Given the description of an element on the screen output the (x, y) to click on. 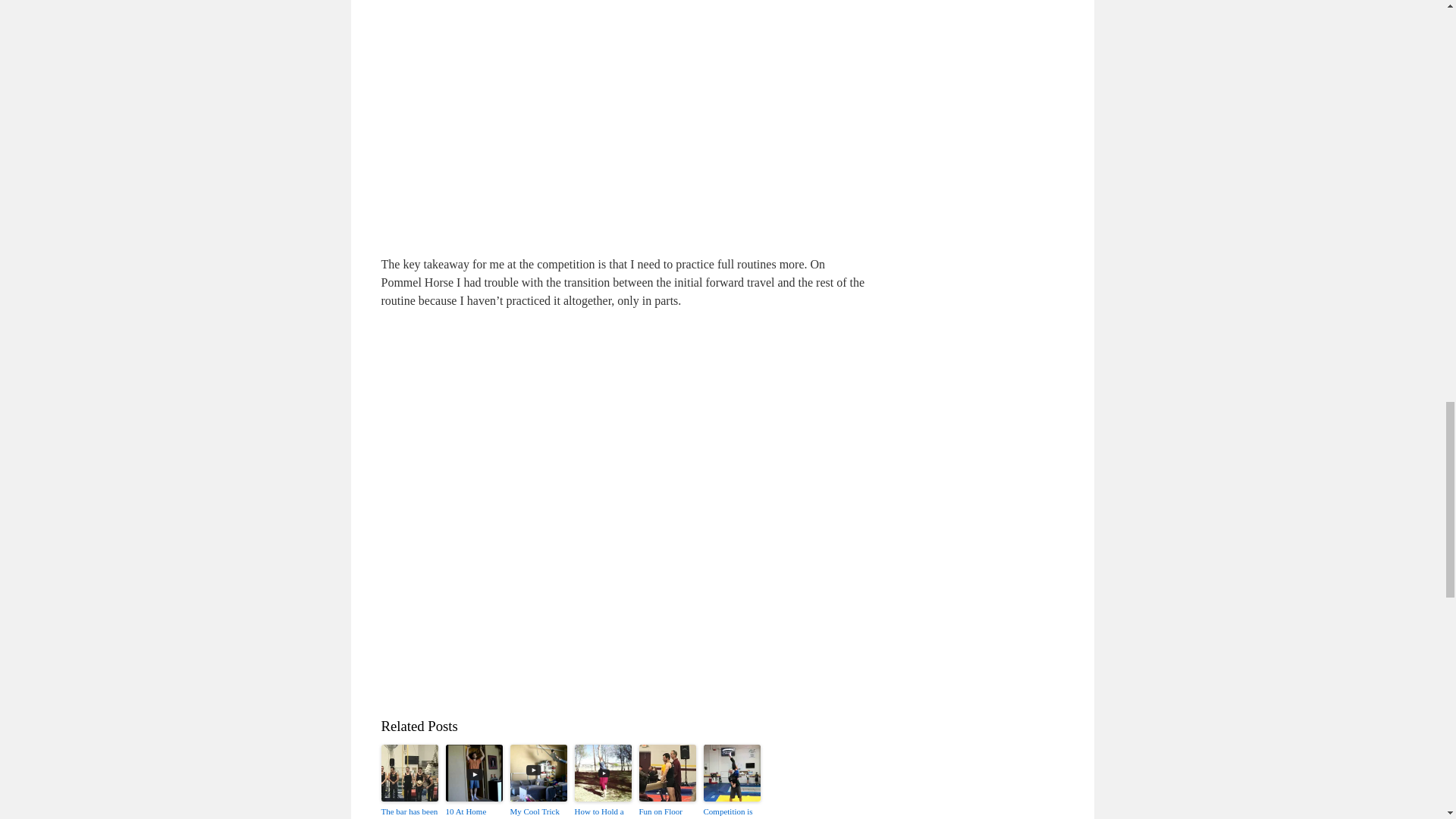
My Cool Trick (537, 811)
How to Hold a Straight Handstand (603, 812)
Competition is still thriving in 2020 (731, 812)
Fun on Floor (667, 811)
10 At Home Exercises on a Pullup Bar (473, 812)
